Given the description of an element on the screen output the (x, y) to click on. 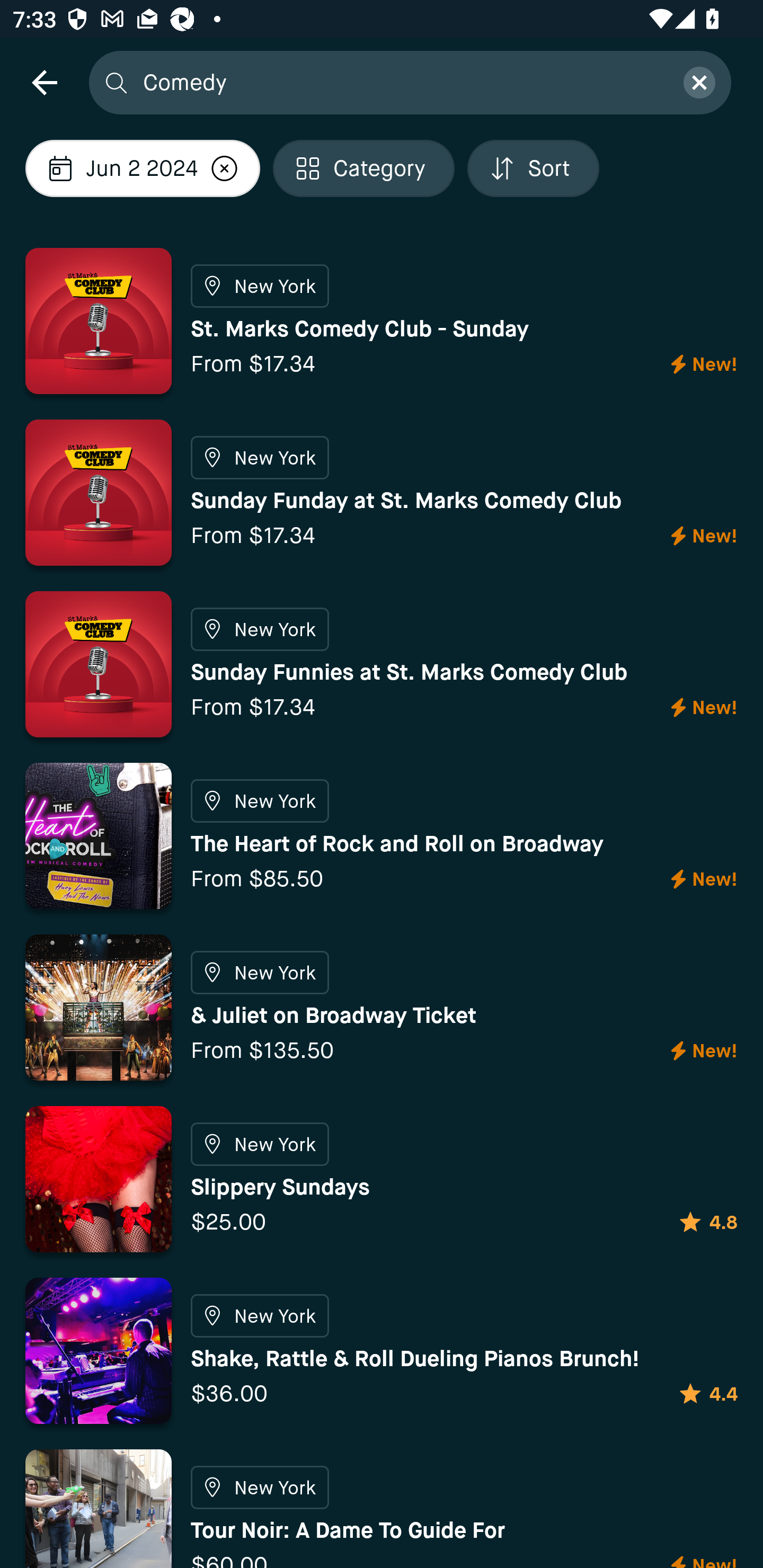
navigation icon (44, 81)
Comedy (402, 81)
Localized description (224, 168)
Localized description Category (363, 168)
Localized description Sort (532, 168)
